Given the description of an element on the screen output the (x, y) to click on. 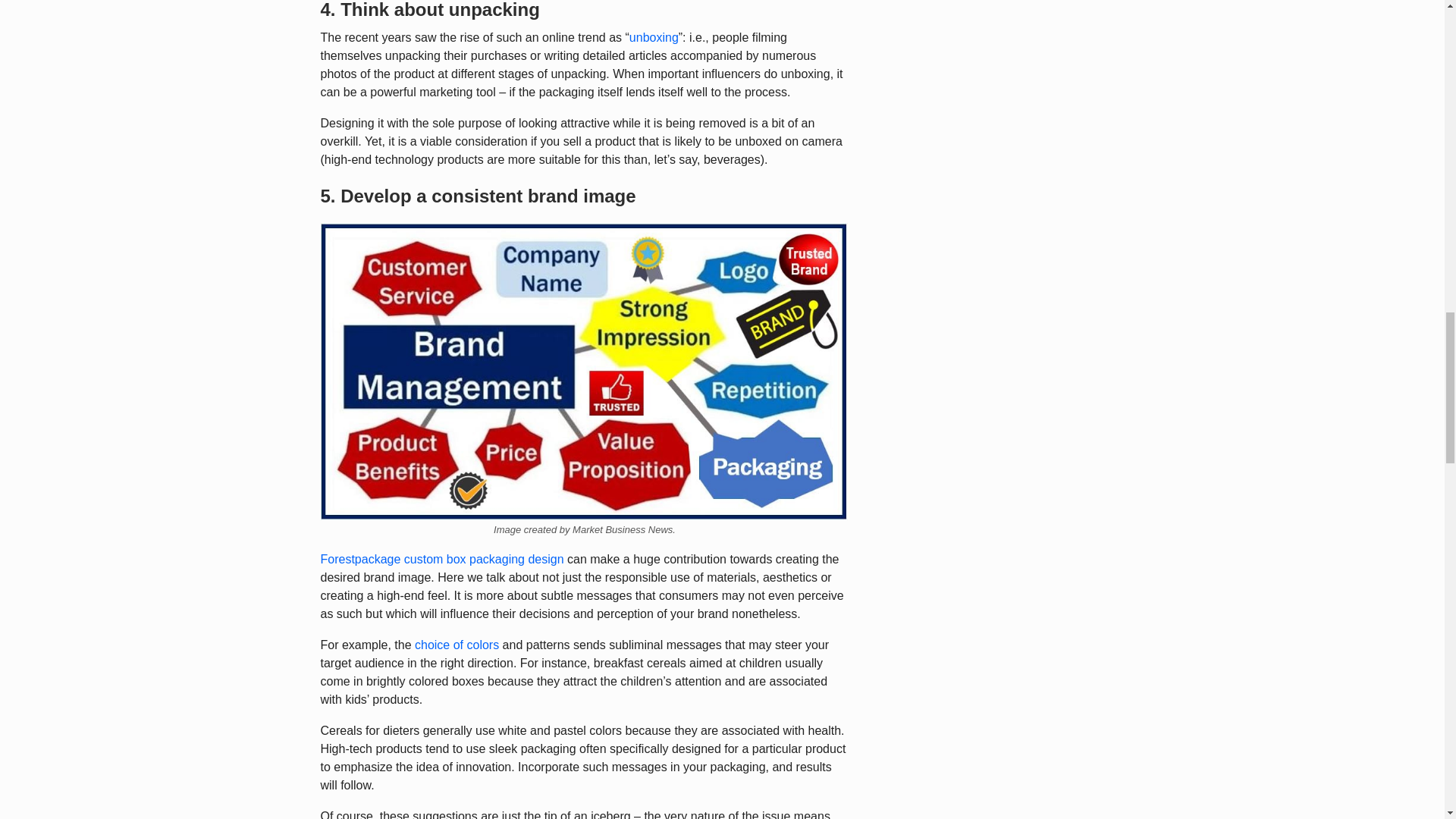
unboxing (653, 37)
Forestpackage custom box packaging design (441, 558)
choice of colors (456, 644)
